Given the description of an element on the screen output the (x, y) to click on. 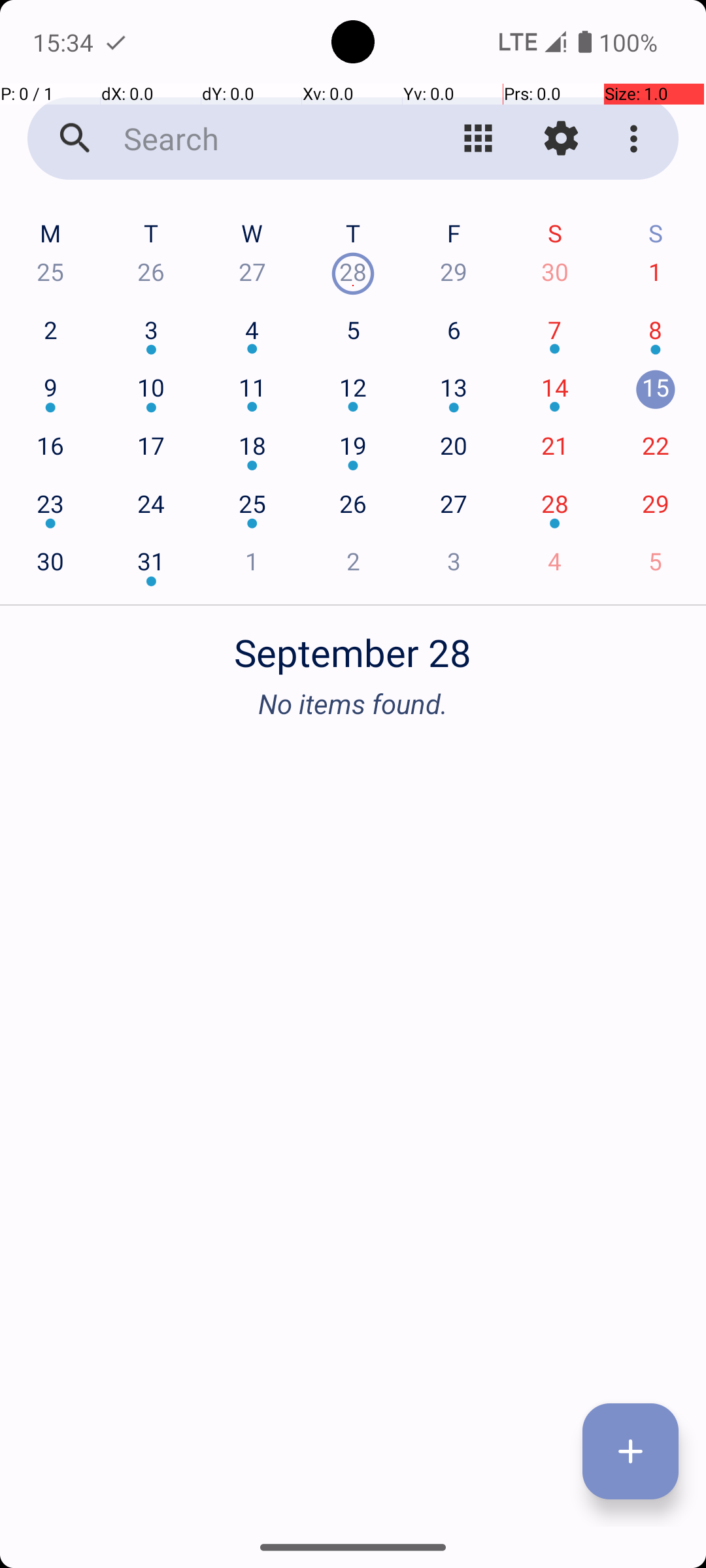
September 28 Element type: android.widget.TextView (352, 644)
